Given the description of an element on the screen output the (x, y) to click on. 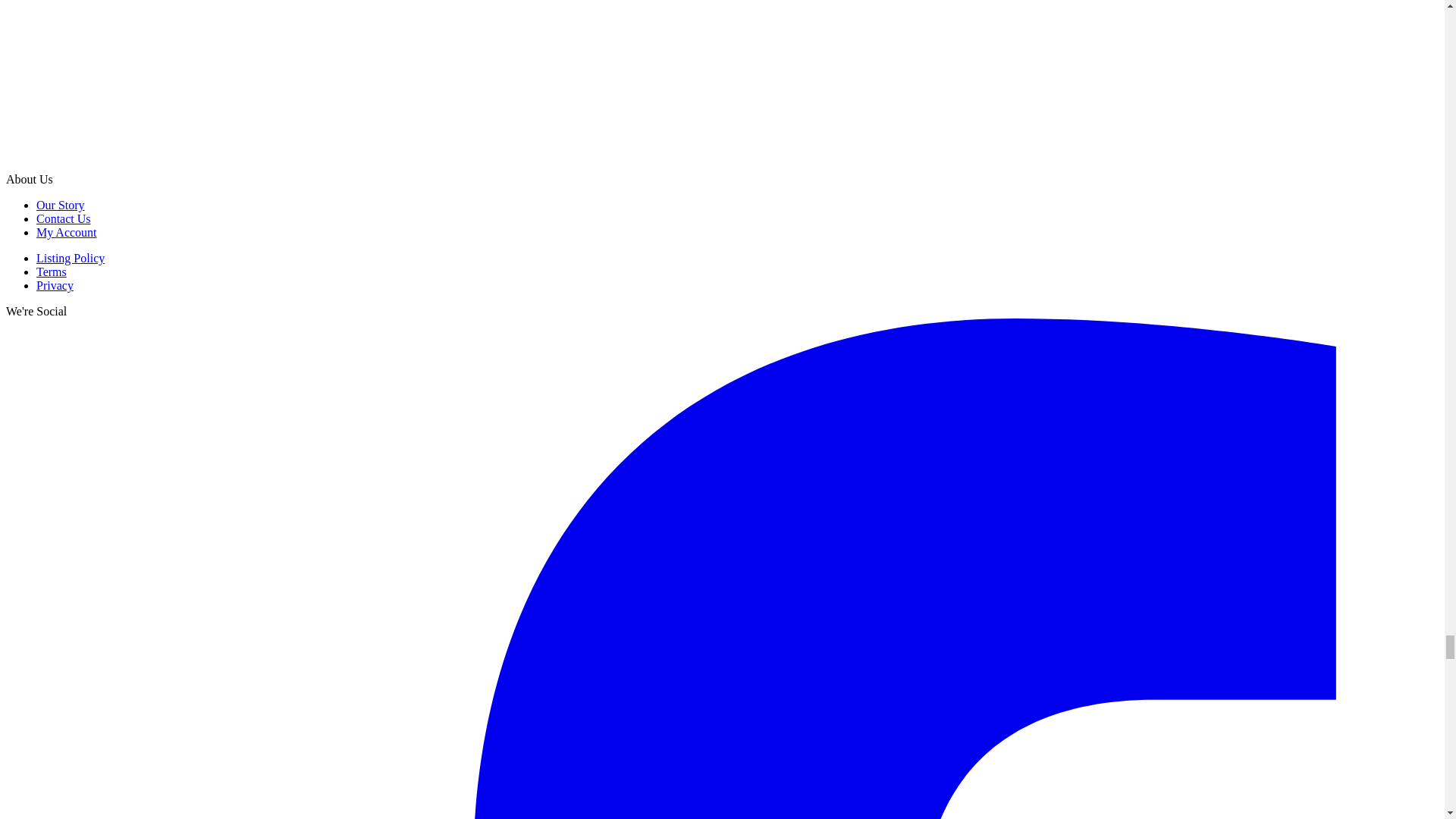
Our Story (60, 205)
Listing Policy (70, 257)
Terms (51, 271)
My Account (66, 232)
Privacy (55, 285)
Contact Us (63, 218)
